Given the description of an element on the screen output the (x, y) to click on. 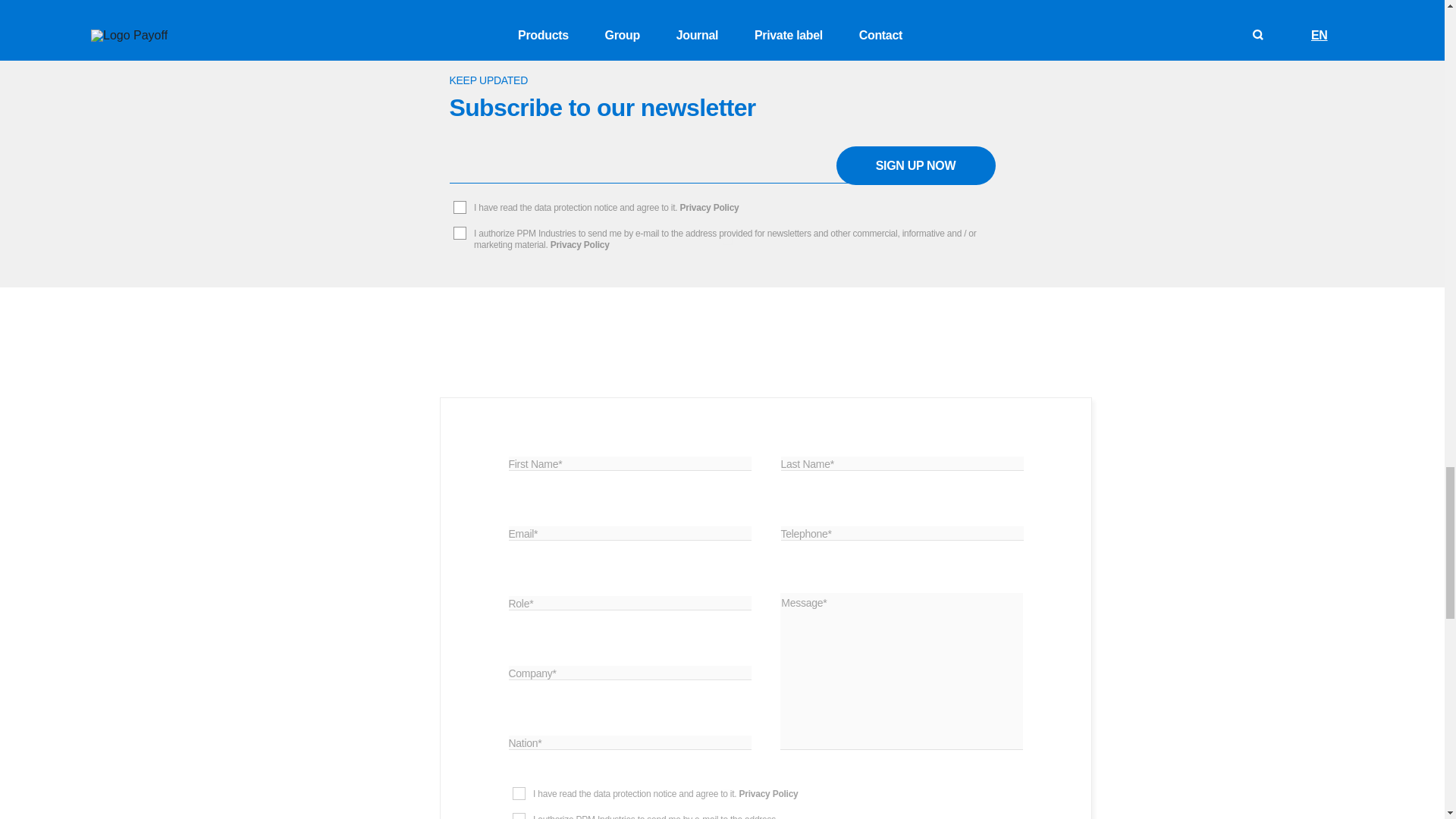
1 (727, 207)
1 (727, 794)
1 (727, 239)
